Given the description of an element on the screen output the (x, y) to click on. 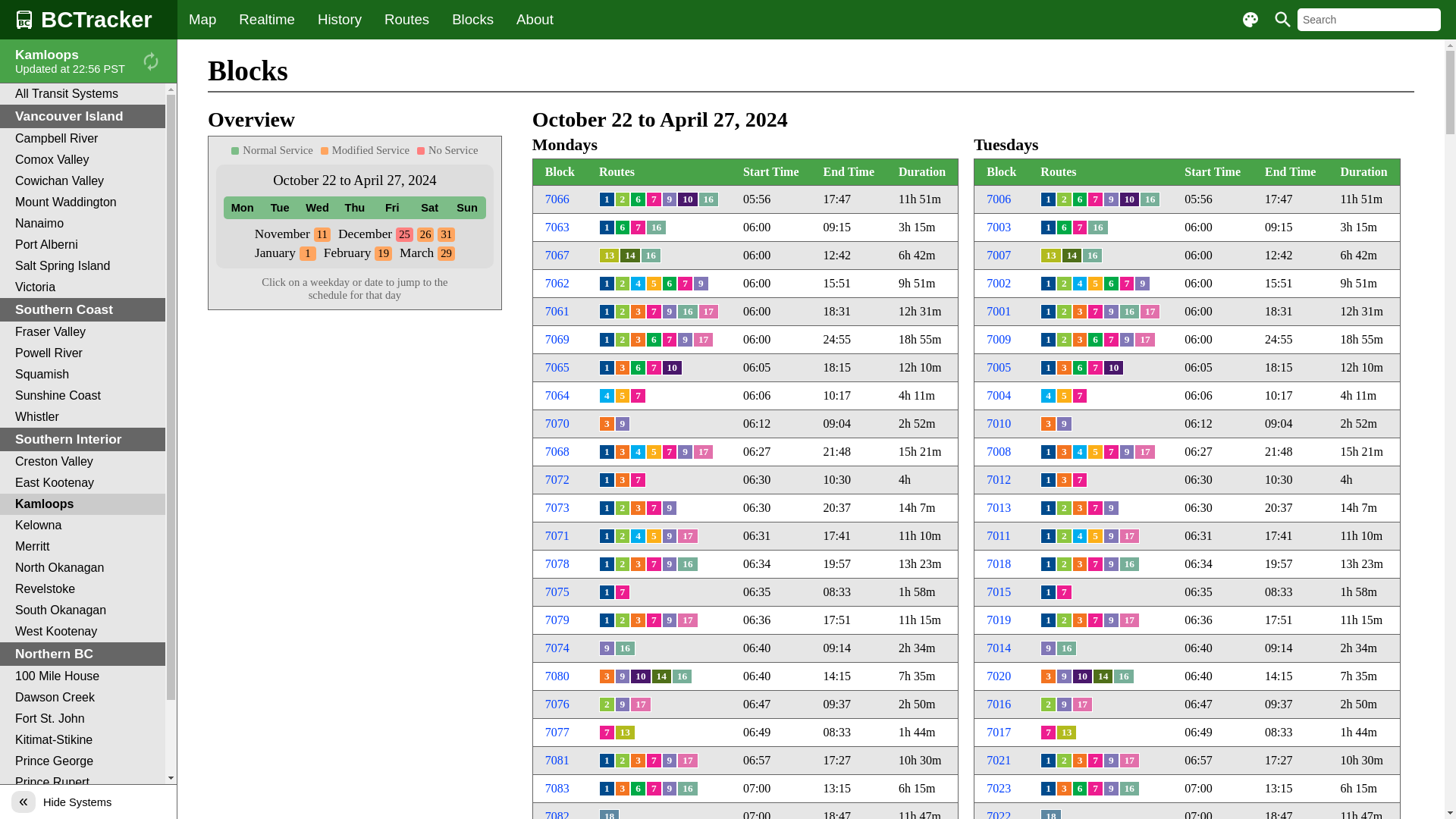
7 Element type: text (1095, 507)
9 Element type: text (669, 199)
7 Element type: text (1095, 619)
1 Element type: text (607, 760)
7 Element type: text (638, 395)
Cowichan Valley Element type: text (82, 180)
9 Element type: text (1048, 647)
16 Element type: text (1129, 563)
Fri Element type: text (392, 207)
7063 Element type: text (557, 226)
10 Element type: text (672, 367)
1 Element type: text (1048, 591)
7 Element type: text (607, 732)
2 Element type: text (622, 535)
9 Element type: text (1111, 507)
7 Element type: text (685, 283)
3 Element type: text (638, 760)
7012 Element type: text (998, 479)
5 Element type: text (1095, 535)
1 Element type: text (607, 367)
10 Element type: text (1082, 676)
7078 Element type: text (557, 563)
2 Element type: text (622, 619)
1 Element type: text (1048, 311)
7 Element type: text (1095, 788)
5 Element type: text (654, 283)
7 Element type: text (1095, 563)
4 Element type: text (638, 451)
6 Element type: text (669, 283)
4 Element type: text (638, 535)
Sunshine Coast Element type: text (82, 395)
3 Element type: text (1048, 423)
7 Element type: text (654, 788)
Tue Element type: text (279, 207)
3 Element type: text (1080, 507)
7 Element type: text (669, 451)
9 Element type: text (669, 788)
7077 Element type: text (557, 731)
17 Element type: text (1082, 704)
5 Element type: text (654, 451)
16 Element type: text (625, 647)
7061 Element type: text (557, 310)
West Kootenay Element type: text (82, 631)
1 Element type: text (1048, 367)
7083 Element type: text (557, 787)
5 Element type: text (654, 535)
7 Element type: text (1127, 283)
17 Element type: text (1129, 535)
3 Element type: text (638, 619)
Prince Rupert Element type: text (82, 782)
7 Element type: text (1048, 732)
7071 Element type: text (557, 535)
1 Element type: text (1048, 535)
1 Element type: text (607, 451)
17 Element type: text (687, 619)
Kitimat-Stikine Element type: text (82, 739)
2 Element type: text (1048, 704)
6 Element type: text (1064, 227)
14 Element type: text (661, 676)
13 Element type: text (1050, 255)
7011 Element type: text (998, 535)
17 Element type: text (687, 535)
5 Element type: text (1095, 451)
10 Element type: text (1129, 199)
2 Element type: text (622, 563)
17 Element type: text (708, 311)
1 Element type: text (607, 563)
3 Element type: text (1080, 760)
16 Element type: text (1066, 647)
16 Element type: text (687, 788)
Prince George Element type: text (82, 760)
17 Element type: text (1144, 451)
100 Mile House Element type: text (82, 676)
1 Element type: text (1048, 339)
3 Element type: text (1080, 619)
7005 Element type: text (998, 366)
6 Element type: text (1080, 788)
7 Element type: text (654, 619)
9 Element type: text (1064, 423)
3 Element type: text (638, 507)
7080 Element type: text (557, 675)
6 Element type: text (1080, 367)
7016 Element type: text (998, 703)
Port Alberni Element type: text (82, 244)
7075 Element type: text (557, 591)
1 Element type: text (307, 252)
Wed Element type: text (316, 207)
7021 Element type: text (998, 759)
7070 Element type: text (557, 423)
2 Element type: text (622, 507)
BCTracker Element type: text (88, 19)
1 Element type: text (1048, 563)
7 Element type: text (622, 591)
9 Element type: text (622, 676)
7 Element type: text (1095, 199)
7 Element type: text (654, 760)
7 Element type: text (1095, 760)
1 Element type: text (607, 788)
7023 Element type: text (998, 787)
2 Element type: text (1064, 535)
7 Element type: text (638, 227)
1 Element type: text (607, 507)
6 Element type: text (622, 227)
5 Element type: text (1095, 283)
14 Element type: text (1071, 255)
1 Element type: text (1048, 479)
1 Element type: text (1048, 619)
16 Element type: text (1149, 199)
9 Element type: text (669, 507)
9 Element type: text (622, 423)
14 Element type: text (629, 255)
9 Element type: text (669, 535)
7003 Element type: text (998, 226)
3 Element type: text (1064, 367)
1 Element type: text (607, 283)
1 Element type: text (607, 591)
4 Element type: text (1080, 535)
9 Element type: text (669, 563)
6 Element type: text (1095, 339)
7064 Element type: text (557, 395)
All Transit Systems Element type: text (82, 93)
Powell River Element type: text (82, 353)
7 Element type: text (654, 311)
17 Element type: text (703, 339)
7 Element type: text (1111, 339)
4 Element type: text (1080, 451)
9 Element type: text (1064, 676)
3 Element type: text (638, 563)
1 Element type: text (1048, 507)
3 Element type: text (638, 339)
10 Element type: text (687, 199)
7001 Element type: text (998, 310)
16 Element type: text (687, 311)
7 Element type: text (1080, 479)
Merritt Element type: text (82, 546)
7017 Element type: text (998, 731)
Fraser Valley Element type: text (82, 331)
2 Element type: text (607, 704)
7009 Element type: text (998, 338)
7019 Element type: text (998, 619)
2 Element type: text (622, 199)
7 Element type: text (654, 199)
7015 Element type: text (998, 591)
3 Element type: text (622, 788)
2 Element type: text (622, 760)
Sun Element type: text (466, 207)
7 Element type: text (654, 563)
7073 Element type: text (557, 507)
9 Element type: text (701, 283)
Fort St. John Element type: text (82, 718)
7 Element type: text (1080, 227)
3 Element type: text (1064, 479)
7069 Element type: text (557, 338)
6 Element type: text (638, 367)
7079 Element type: text (557, 619)
2 Element type: text (1064, 339)
9 Element type: text (1142, 283)
17 Element type: text (1144, 339)
16 Element type: text (1129, 788)
17 Element type: text (703, 451)
13 Element type: text (609, 255)
2 Element type: text (1064, 311)
9 Element type: text (1064, 704)
Map Element type: text (202, 19)
16 Element type: text (650, 255)
17 Element type: text (640, 704)
7081 Element type: text (557, 759)
31 Element type: text (446, 234)
2 Element type: text (1064, 760)
North Okanagan Element type: text (82, 567)
7068 Element type: text (557, 451)
7065 Element type: text (557, 366)
17 Element type: text (687, 760)
Kelowna Element type: text (82, 525)
3 Element type: text (1080, 311)
Dawson Creek Element type: text (82, 697)
7 Element type: text (1111, 451)
Salt Spring Island Element type: text (82, 265)
East Kootenay Element type: text (82, 482)
7072 Element type: text (557, 479)
2 Element type: text (1064, 283)
7076 Element type: text (557, 703)
7 Element type: text (638, 479)
Comox Valley Element type: text (82, 159)
26 Element type: text (425, 234)
9 Element type: text (1111, 760)
1 Element type: text (1048, 199)
11 Element type: text (321, 234)
Mon Element type: text (241, 207)
1 Element type: text (607, 619)
2 Element type: text (622, 311)
16 Element type: text (1097, 227)
3 Element type: text (1048, 676)
7013 Element type: text (998, 507)
29 Element type: text (446, 252)
7006 Element type: text (998, 198)
9 Element type: text (669, 619)
9 Element type: text (669, 311)
7007 Element type: text (998, 254)
5 Element type: text (1064, 395)
9 Element type: text (1111, 619)
9 Element type: text (607, 647)
16 Element type: text (656, 227)
14 Element type: text (1102, 676)
7020 Element type: text (998, 675)
Thu Element type: text (354, 207)
4 Element type: text (1048, 395)
Squamish Element type: text (82, 374)
7 Element type: text (1080, 395)
13 Element type: text (1066, 732)
6 Element type: text (1111, 283)
6 Element type: text (638, 199)
16 Element type: text (687, 563)
13 Element type: text (625, 732)
7 Element type: text (1064, 591)
10 Element type: text (640, 676)
17 Element type: text (1149, 311)
1 Element type: text (607, 227)
2 Element type: text (622, 283)
7010 Element type: text (998, 423)
7 Element type: text (1095, 367)
16 Element type: text (681, 676)
1 Element type: text (1048, 451)
3 Element type: text (622, 367)
2 Element type: text (1064, 563)
7002 Element type: text (998, 282)
9 Element type: text (1127, 339)
1 Element type: text (1048, 227)
4 Element type: text (607, 395)
2 Element type: text (1064, 619)
4 Element type: text (1080, 283)
9 Element type: text (685, 451)
Whistler Element type: text (82, 416)
6 Element type: text (638, 788)
Quesnel Element type: text (82, 803)
9 Element type: text (1111, 535)
9 Element type: text (1111, 199)
6 Element type: text (654, 339)
17 Element type: text (1129, 619)
7067 Element type: text (557, 254)
3 Element type: text (622, 479)
9 Element type: text (1111, 311)
South Okanagan Element type: text (82, 610)
9 Element type: text (1111, 788)
7062 Element type: text (557, 282)
3 Element type: text (622, 451)
History Element type: text (339, 19)
16 Element type: text (1129, 311)
3 Element type: text (1080, 339)
25 Element type: text (404, 234)
7 Element type: text (669, 339)
7004 Element type: text (998, 395)
7074 Element type: text (557, 647)
Revelstoke Element type: text (82, 588)
9 Element type: text (622, 704)
Creston Valley Element type: text (82, 461)
1 Element type: text (1048, 788)
16 Element type: text (708, 199)
1 Element type: text (607, 311)
7 Element type: text (654, 367)
7014 Element type: text (998, 647)
9 Element type: text (1111, 563)
3 Element type: text (1064, 451)
1 Element type: text (607, 339)
2 Element type: text (1064, 199)
16 Element type: text (1123, 676)
2 Element type: text (1064, 507)
2 Element type: text (622, 339)
1 Element type: text (1048, 283)
7008 Element type: text (998, 451)
1 Element type: text (607, 479)
Routes Element type: text (406, 19)
Nanaimo Element type: text (82, 223)
9 Element type: text (669, 760)
Sat Element type: text (429, 207)
9 Element type: text (685, 339)
17 Element type: text (1129, 760)
5 Element type: text (622, 395)
9 Element type: text (1127, 451)
Campbell River Element type: text (82, 138)
Victoria Element type: text (82, 287)
3 Element type: text (607, 676)
7 Element type: text (654, 507)
7018 Element type: text (998, 563)
19 Element type: text (383, 252)
Blocks Element type: text (472, 19)
10 Element type: text (1113, 367)
3 Element type: text (607, 423)
7 Element type: text (1095, 311)
1 Element type: text (1048, 760)
4 Element type: text (638, 283)
6 Element type: text (1080, 199)
Realtime Element type: text (266, 19)
3 Element type: text (1080, 563)
3 Element type: text (1064, 788)
16 Element type: text (1092, 255)
About Element type: text (534, 19)
3 Element type: text (638, 311)
Mount Waddington Element type: text (82, 202)
7066 Element type: text (557, 198)
1 Element type: text (607, 535)
1 Element type: text (607, 199)
